Given the description of an element on the screen output the (x, y) to click on. 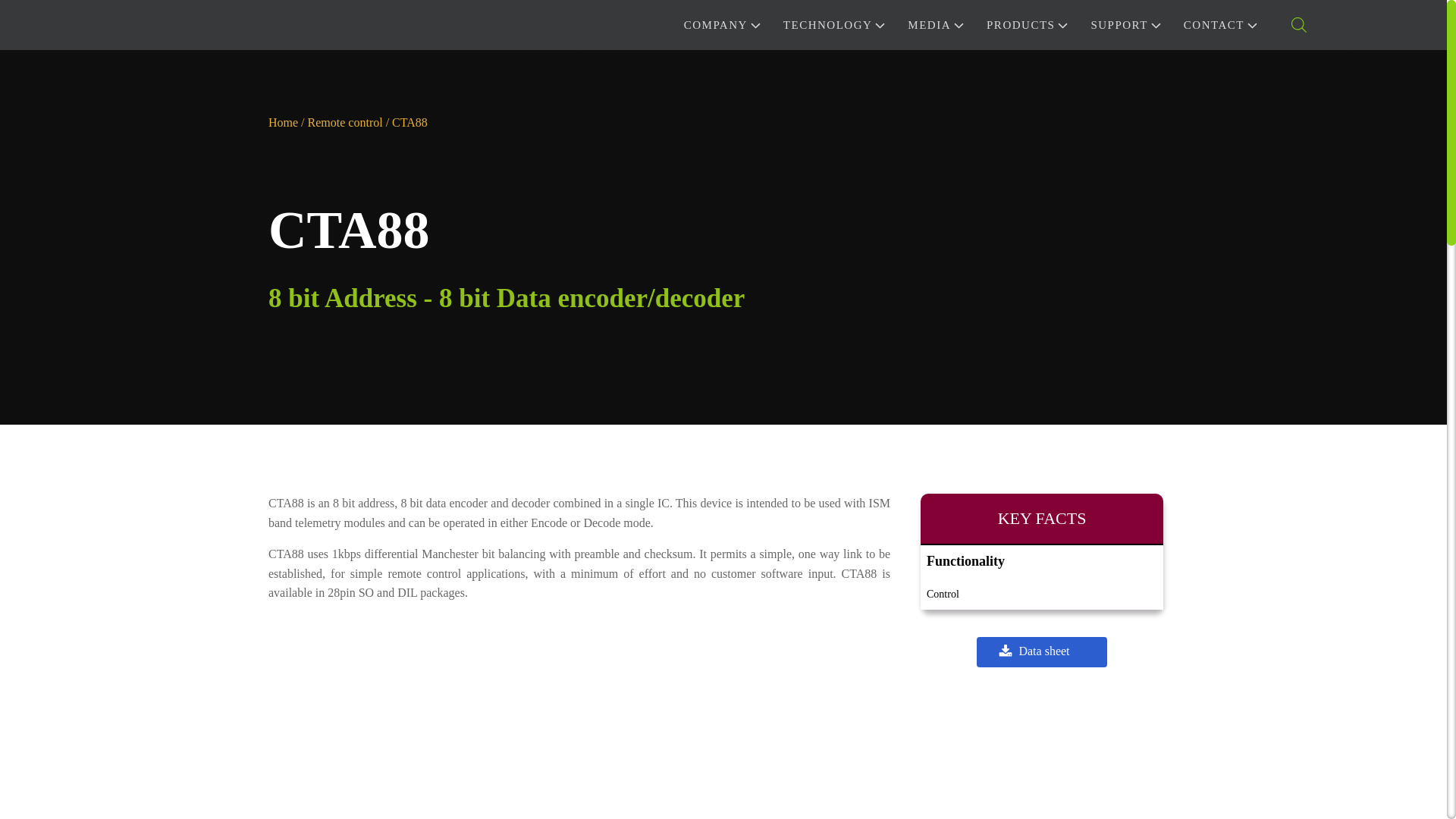
COMPANY (721, 24)
MEDIA (934, 24)
PRODUCTS (1026, 24)
TECHNOLOGY (833, 24)
